Given the description of an element on the screen output the (x, y) to click on. 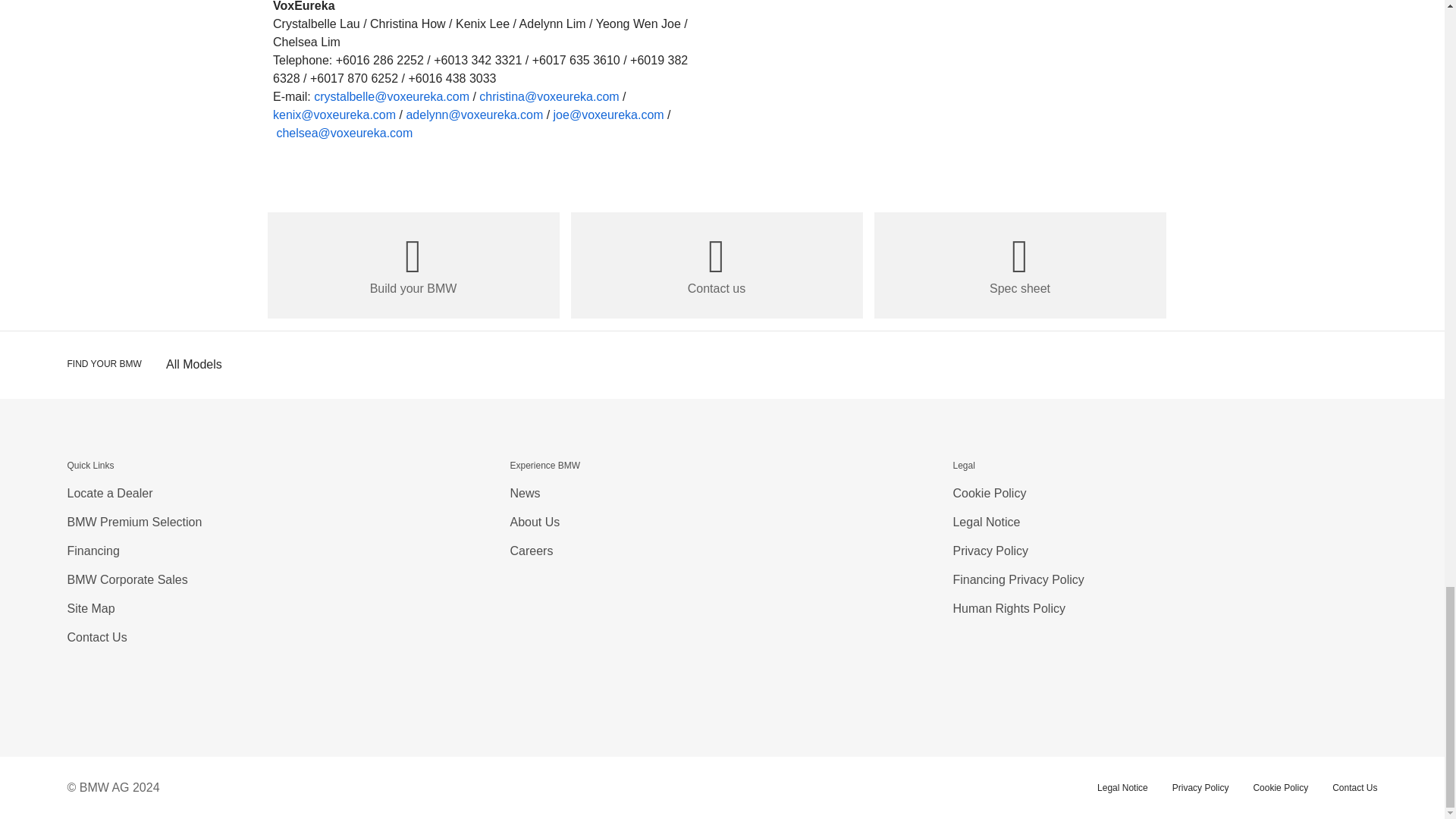
Contact us (716, 265)
Spec sheet (1019, 265)
Build your BMW (412, 265)
